Given the description of an element on the screen output the (x, y) to click on. 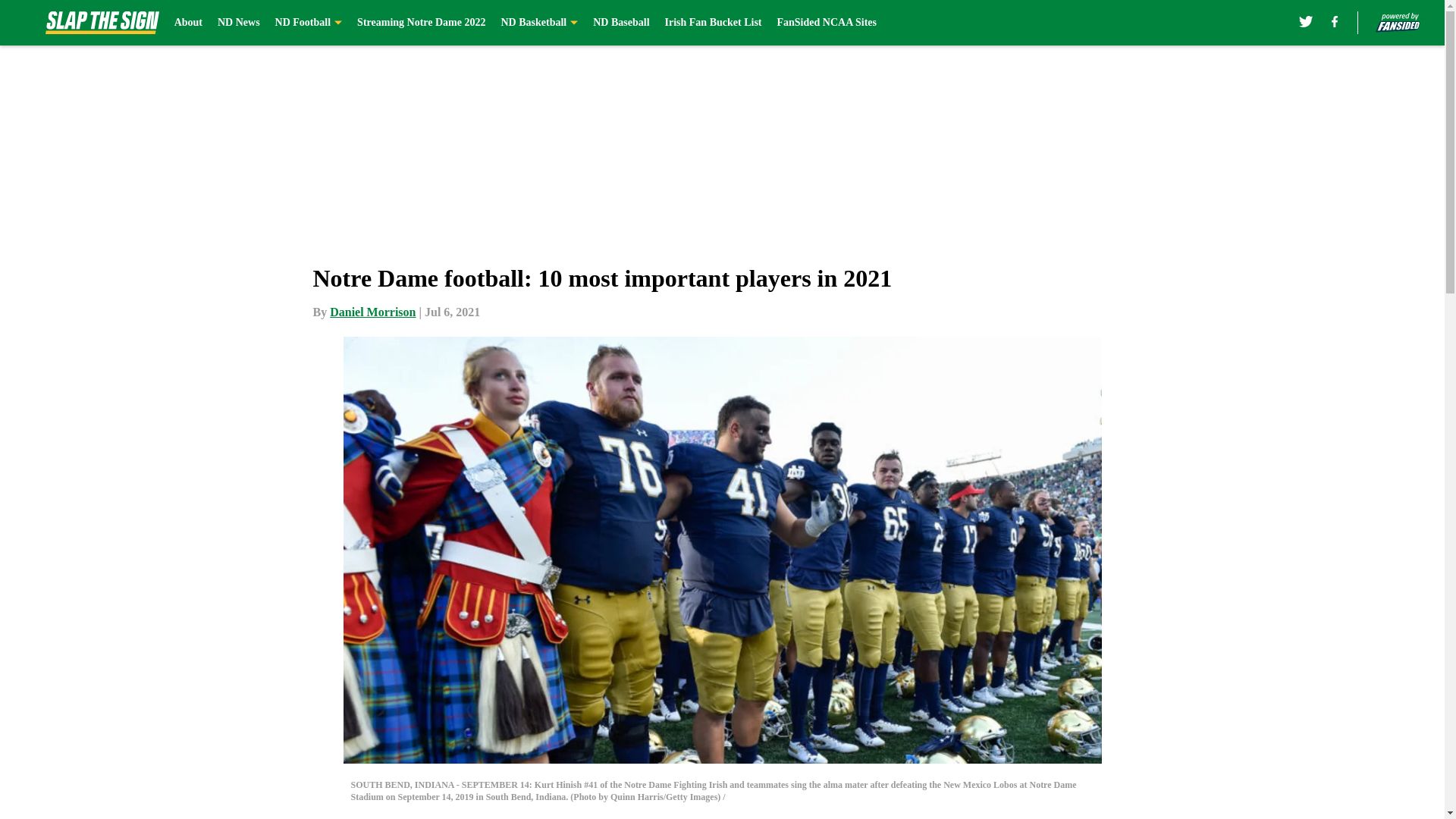
About (188, 22)
Daniel Morrison (372, 311)
Streaming Notre Dame 2022 (420, 22)
FanSided NCAA Sites (826, 22)
ND Baseball (620, 22)
Irish Fan Bucket List (713, 22)
ND News (238, 22)
